Given the description of an element on the screen output the (x, y) to click on. 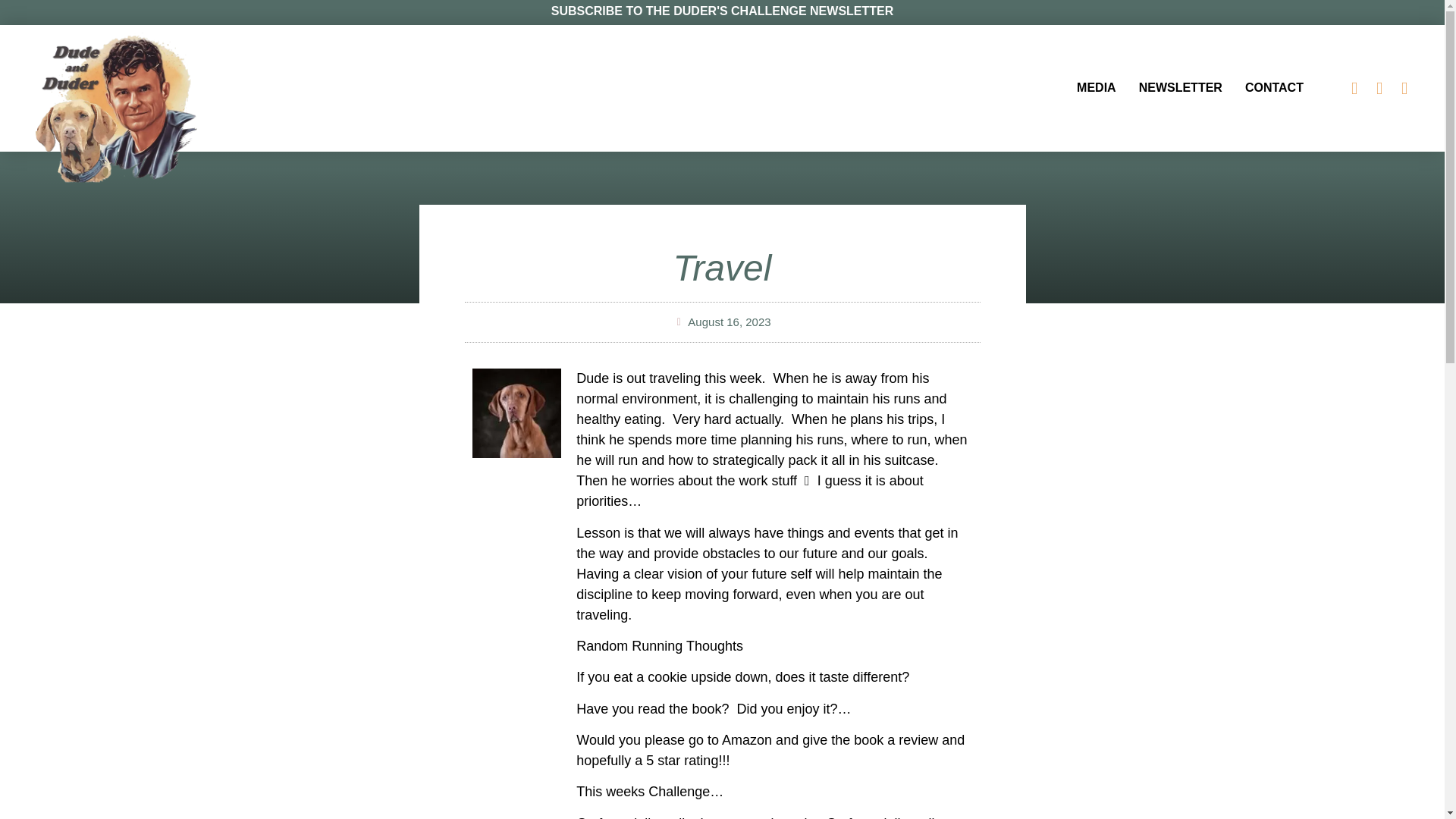
MEDIA (1095, 87)
August 16, 2023 (721, 322)
CONTACT (1273, 87)
NEWSLETTER (1179, 87)
SUBSCRIBE TO THE DUDER'S CHALLENGE NEWSLETTER (722, 10)
